Given the description of an element on the screen output the (x, y) to click on. 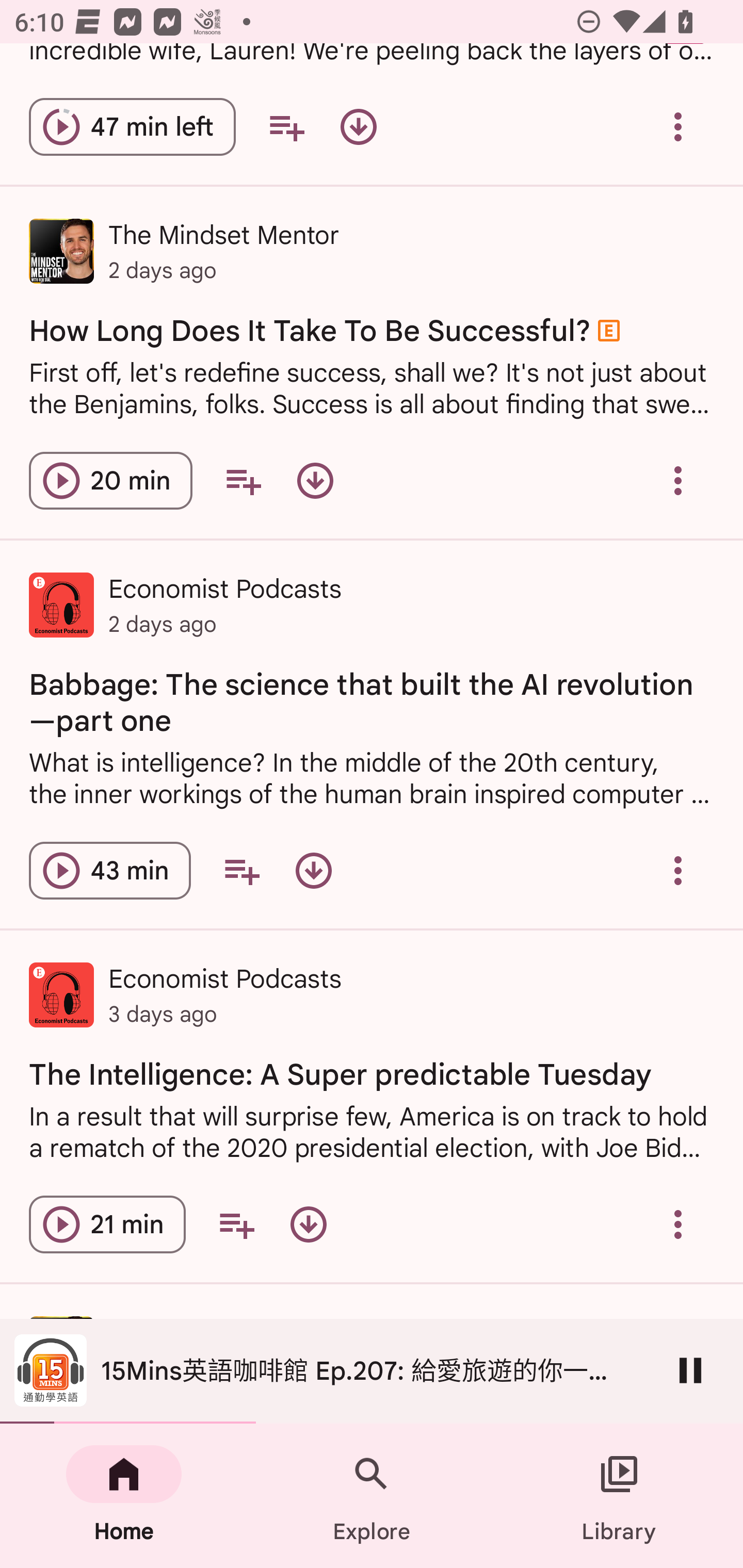
Play episode Meet My Wife 47 min left (131, 126)
Add to your queue (286, 126)
Download episode (358, 126)
Overflow menu (677, 126)
Add to your queue (242, 480)
Download episode (315, 480)
Overflow menu (677, 480)
Add to your queue (241, 870)
Download episode (313, 870)
Overflow menu (677, 870)
Add to your queue (235, 1224)
Download episode (308, 1224)
Overflow menu (677, 1224)
Pause (690, 1370)
Explore (371, 1495)
Library (619, 1495)
